Given the description of an element on the screen output the (x, y) to click on. 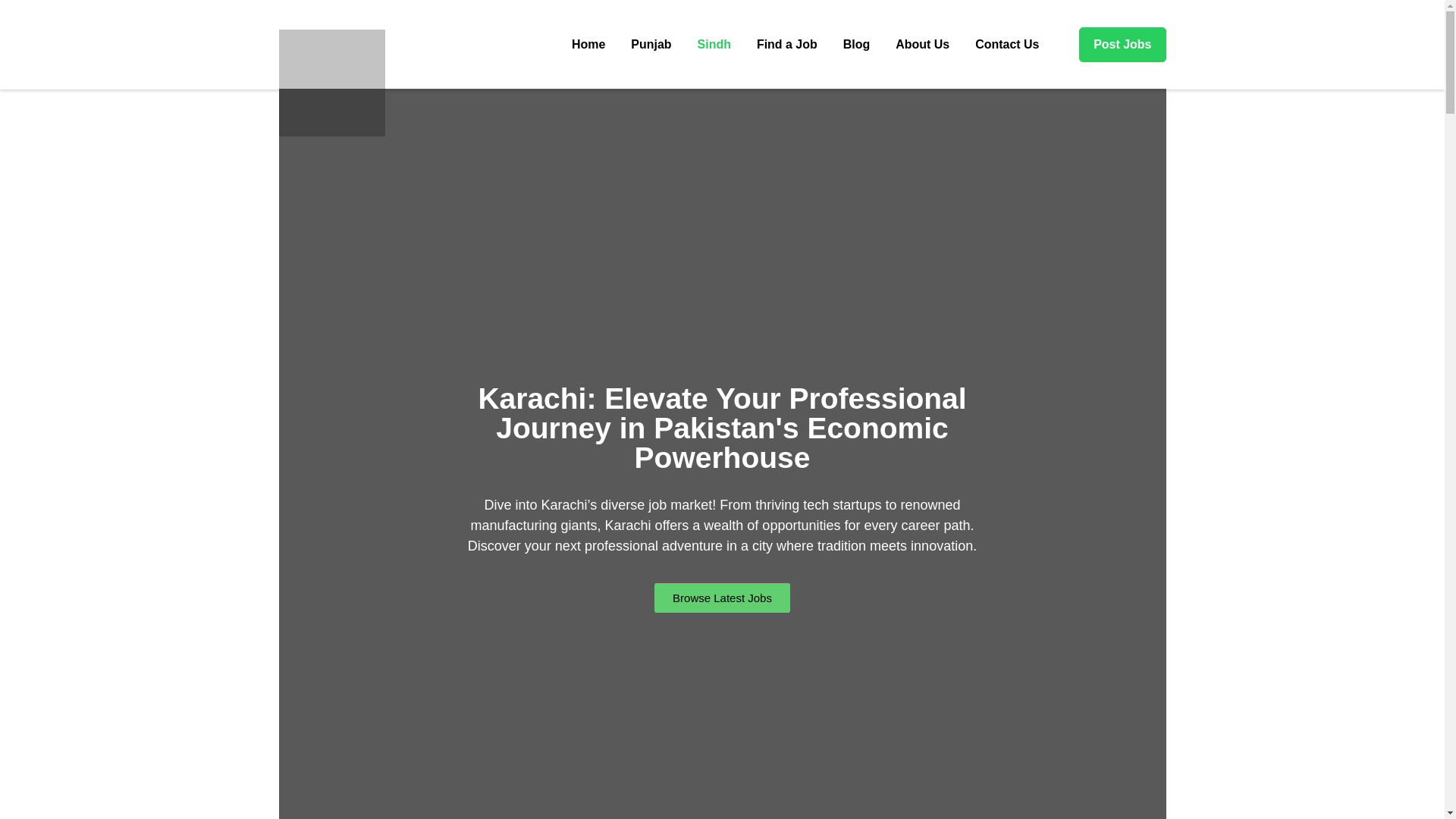
Punjab (650, 44)
Pakistan Careers (486, 57)
Home (588, 44)
